Given the description of an element on the screen output the (x, y) to click on. 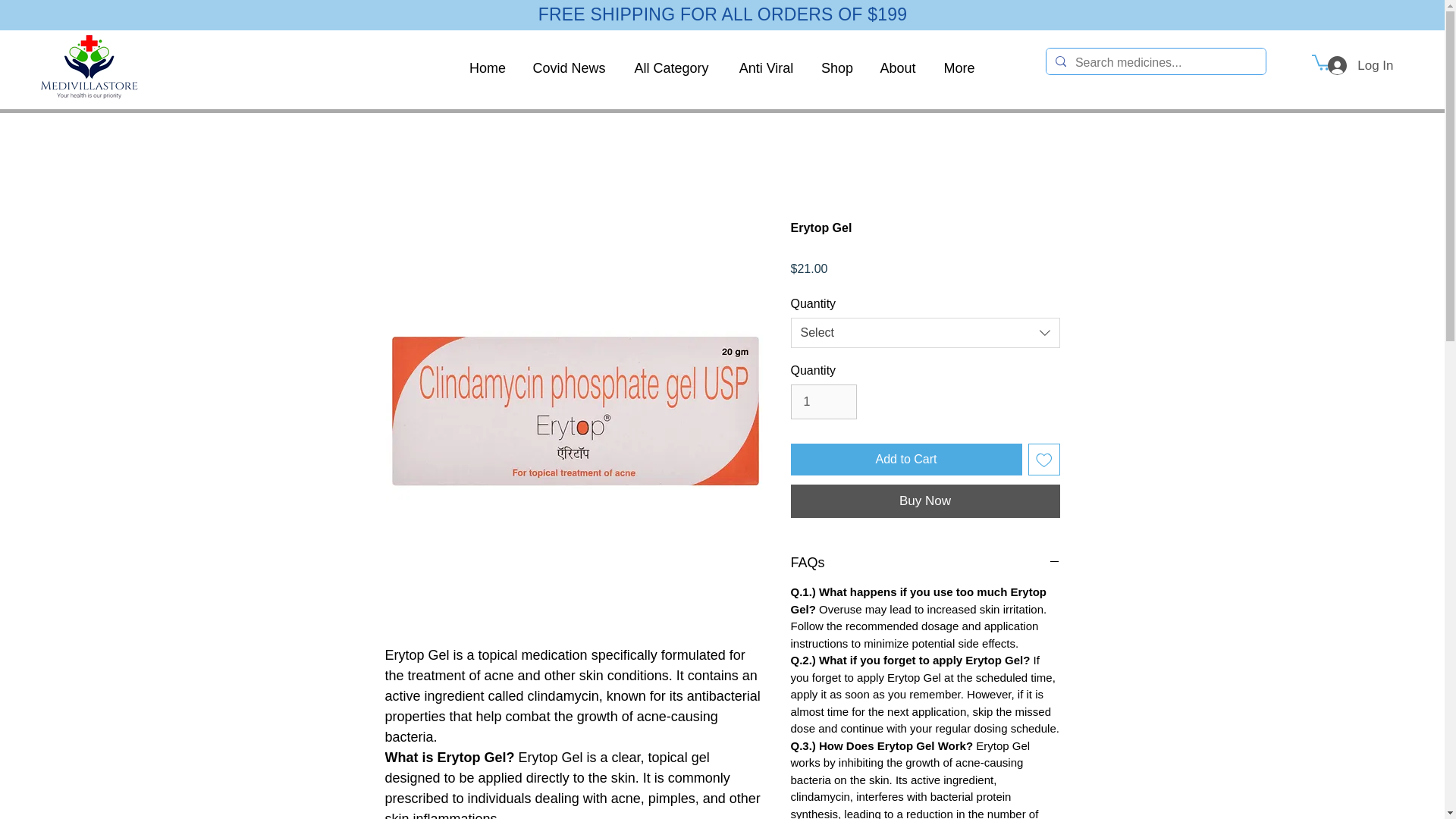
Covid News (568, 67)
Shop (836, 67)
Select (924, 332)
About (898, 67)
1 (823, 401)
Anti Viral (765, 67)
Home (488, 67)
Log In (1360, 65)
Add to Cart (906, 459)
All Category (670, 67)
